Given the description of an element on the screen output the (x, y) to click on. 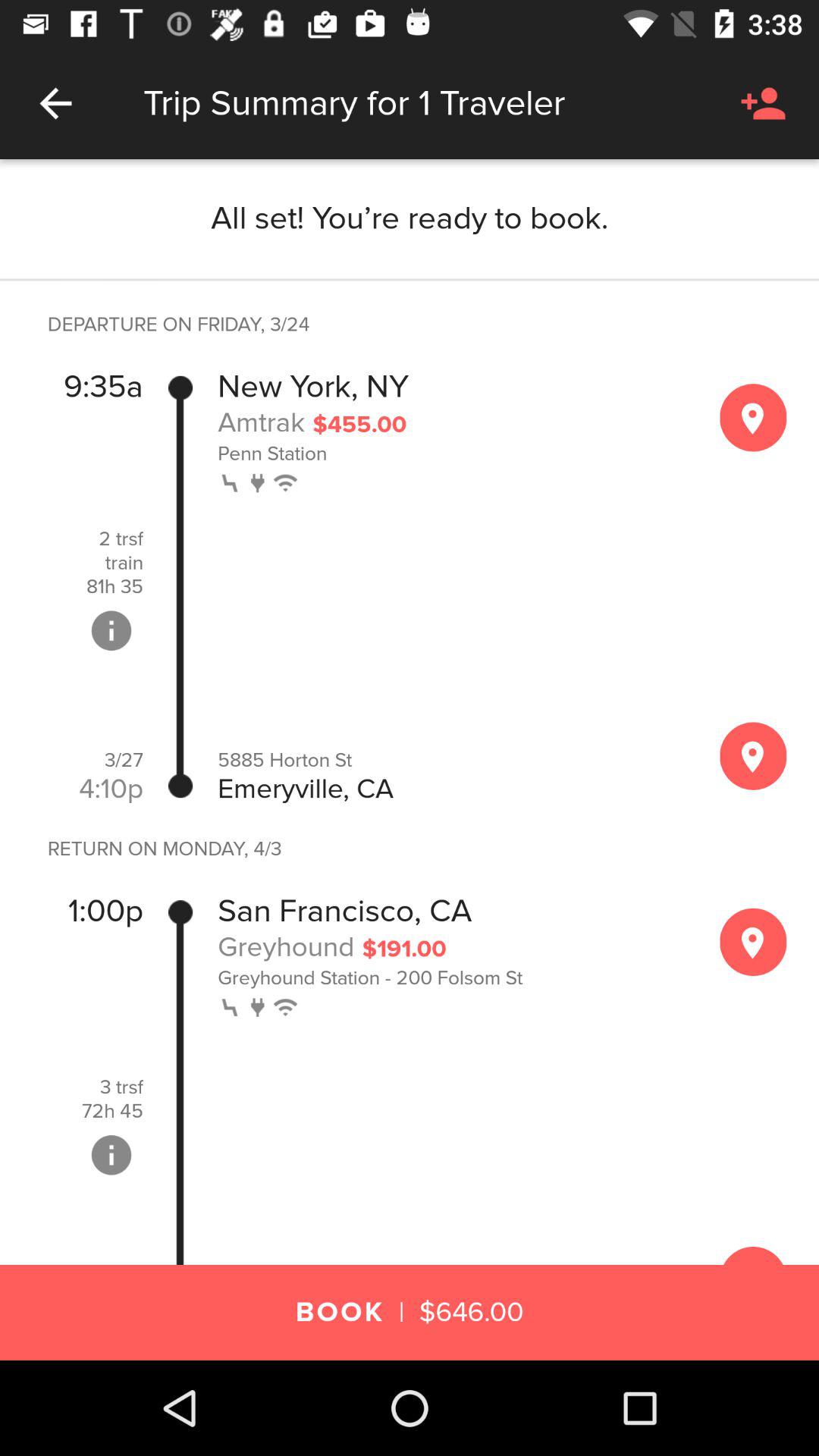
turn off item below the return on monday icon (105, 911)
